Given the description of an element on the screen output the (x, y) to click on. 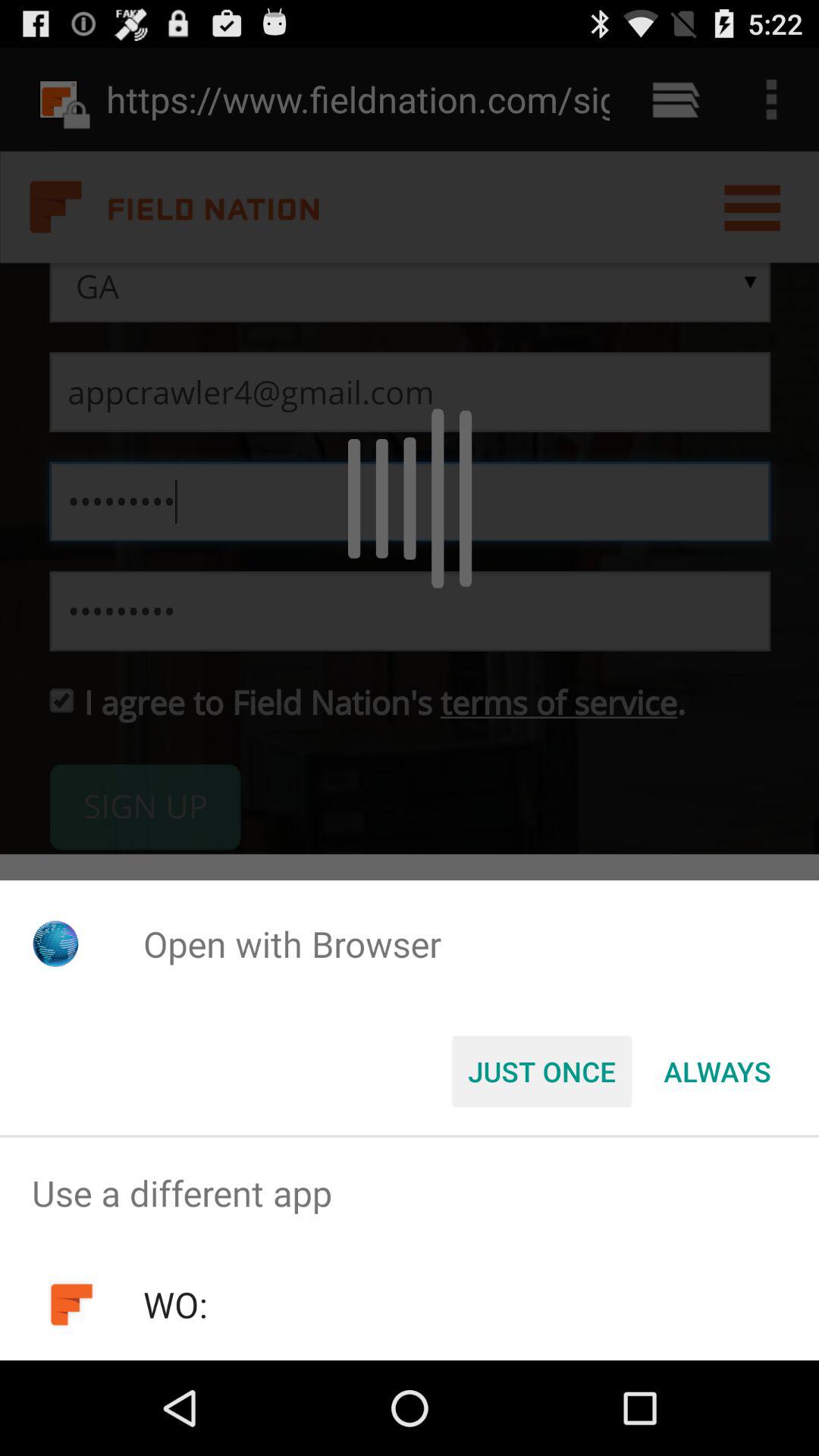
click the always button (717, 1071)
